Given the description of an element on the screen output the (x, y) to click on. 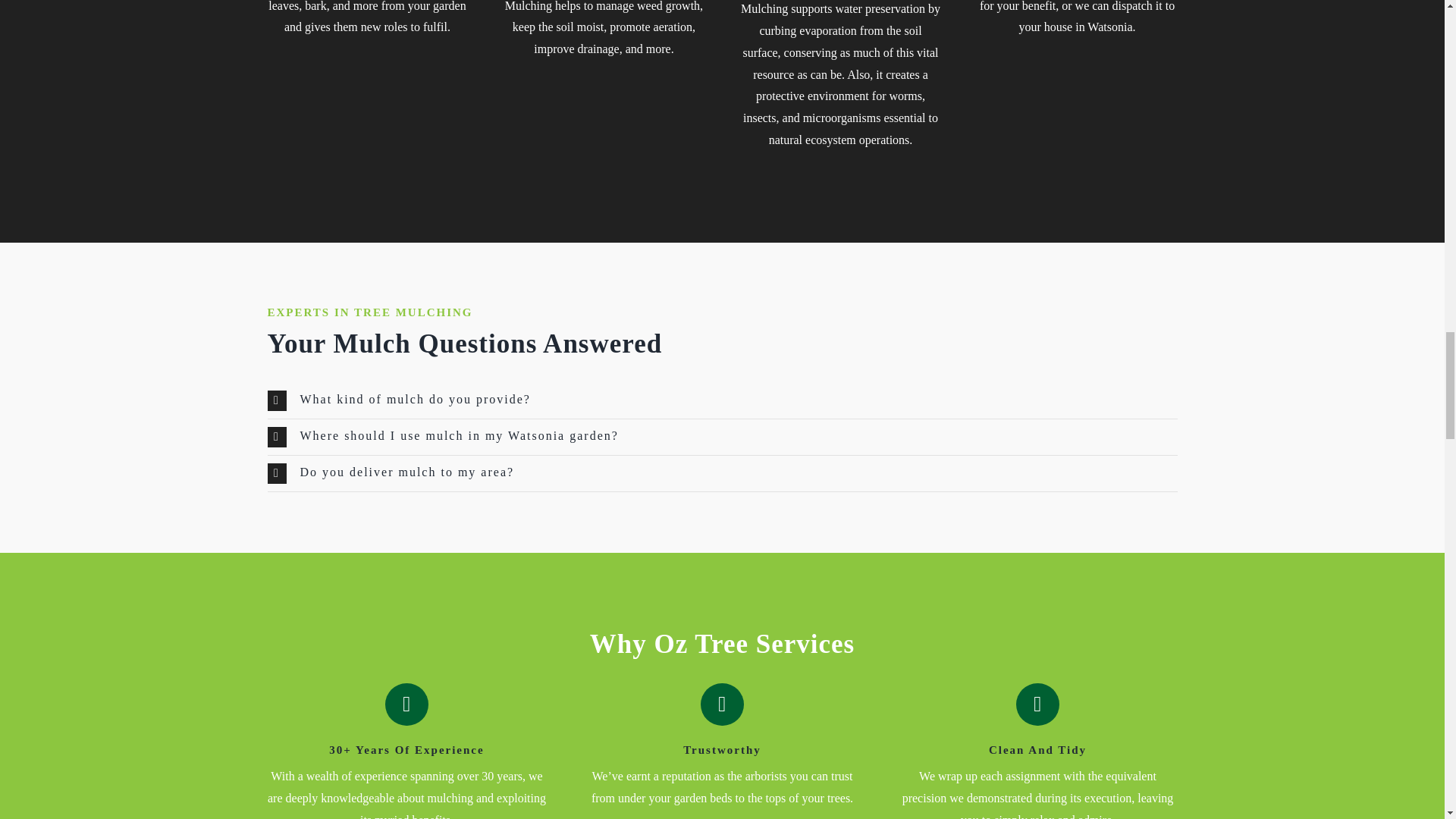
Where should I use mulch in my Watsonia garden? (721, 437)
What kind of mulch do you provide? (721, 400)
Do you deliver mulch to my area? (721, 473)
